Given the description of an element on the screen output the (x, y) to click on. 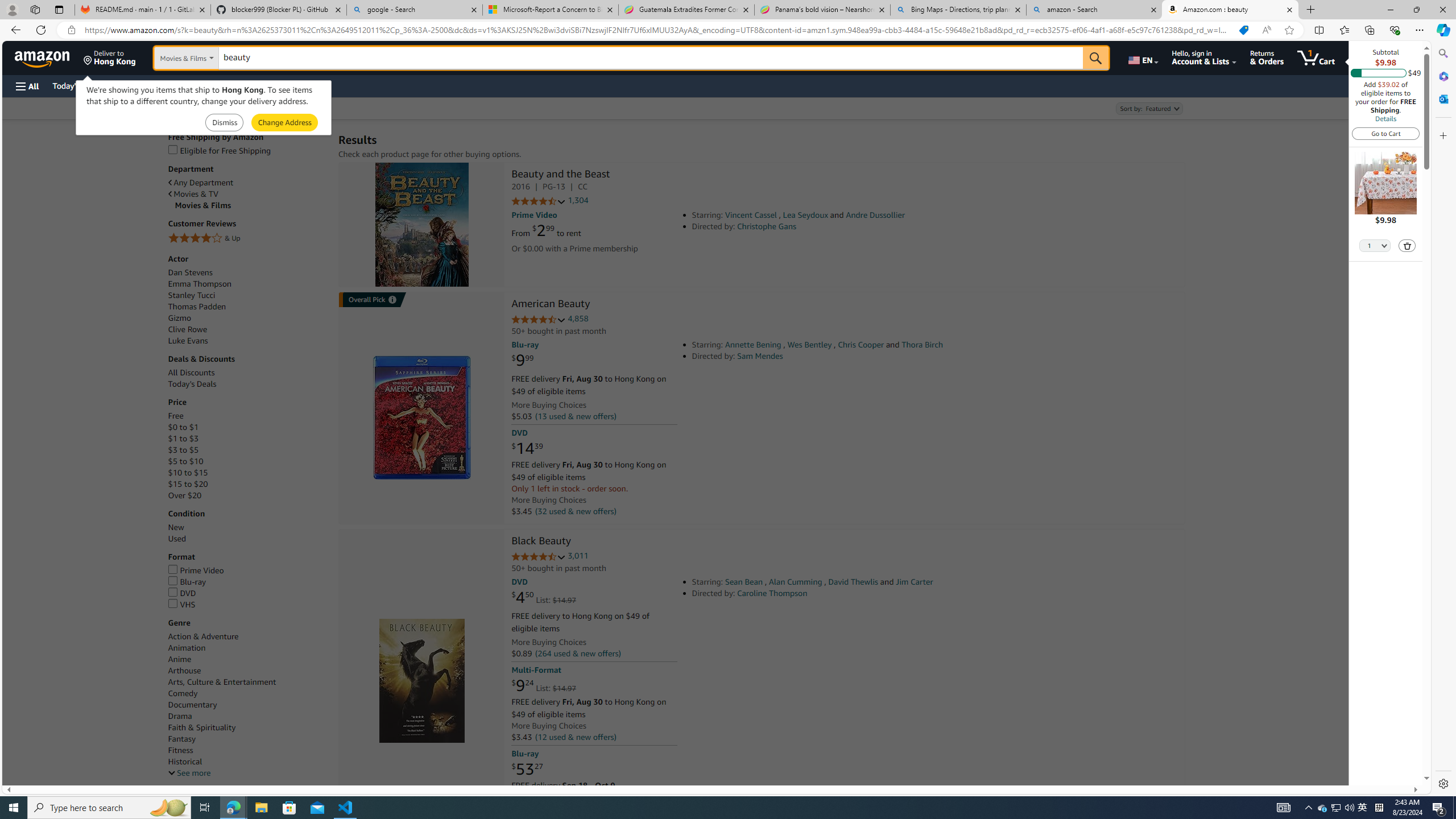
$15 to $20 (187, 484)
(32 used & new offers) (574, 511)
Clive Rowe (247, 329)
4.6 out of 5 stars (538, 319)
DVD (181, 592)
3,011 (577, 556)
$1 to $3 (183, 438)
Sam Mendes (759, 355)
Jim Carter (914, 581)
